Given the description of an element on the screen output the (x, y) to click on. 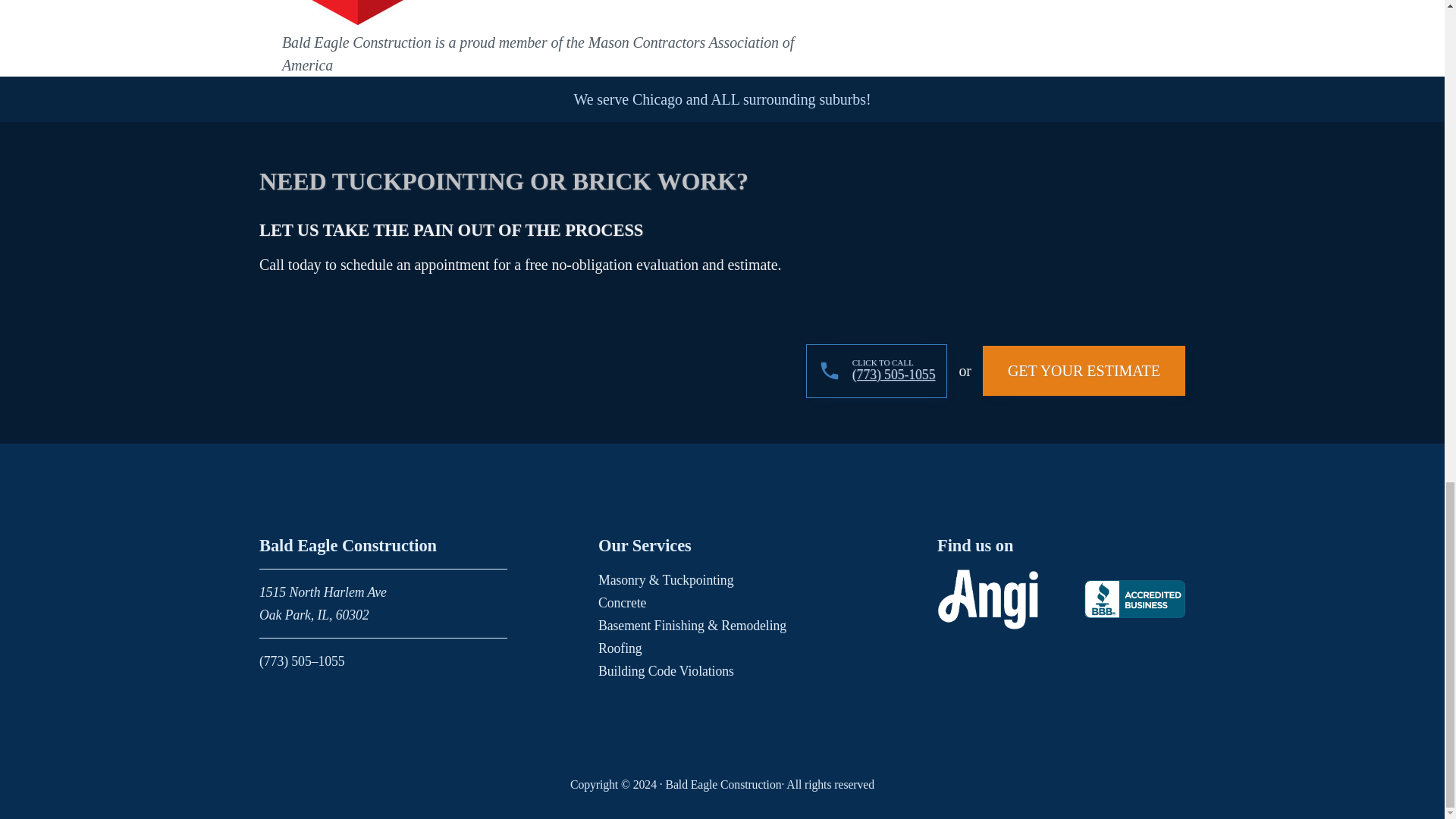
Roofing (721, 648)
GET YOUR ESTIMATE (1083, 370)
Concrete (721, 602)
Building Code Violations (721, 671)
Bald Eagle Construction (723, 784)
